Given the description of an element on the screen output the (x, y) to click on. 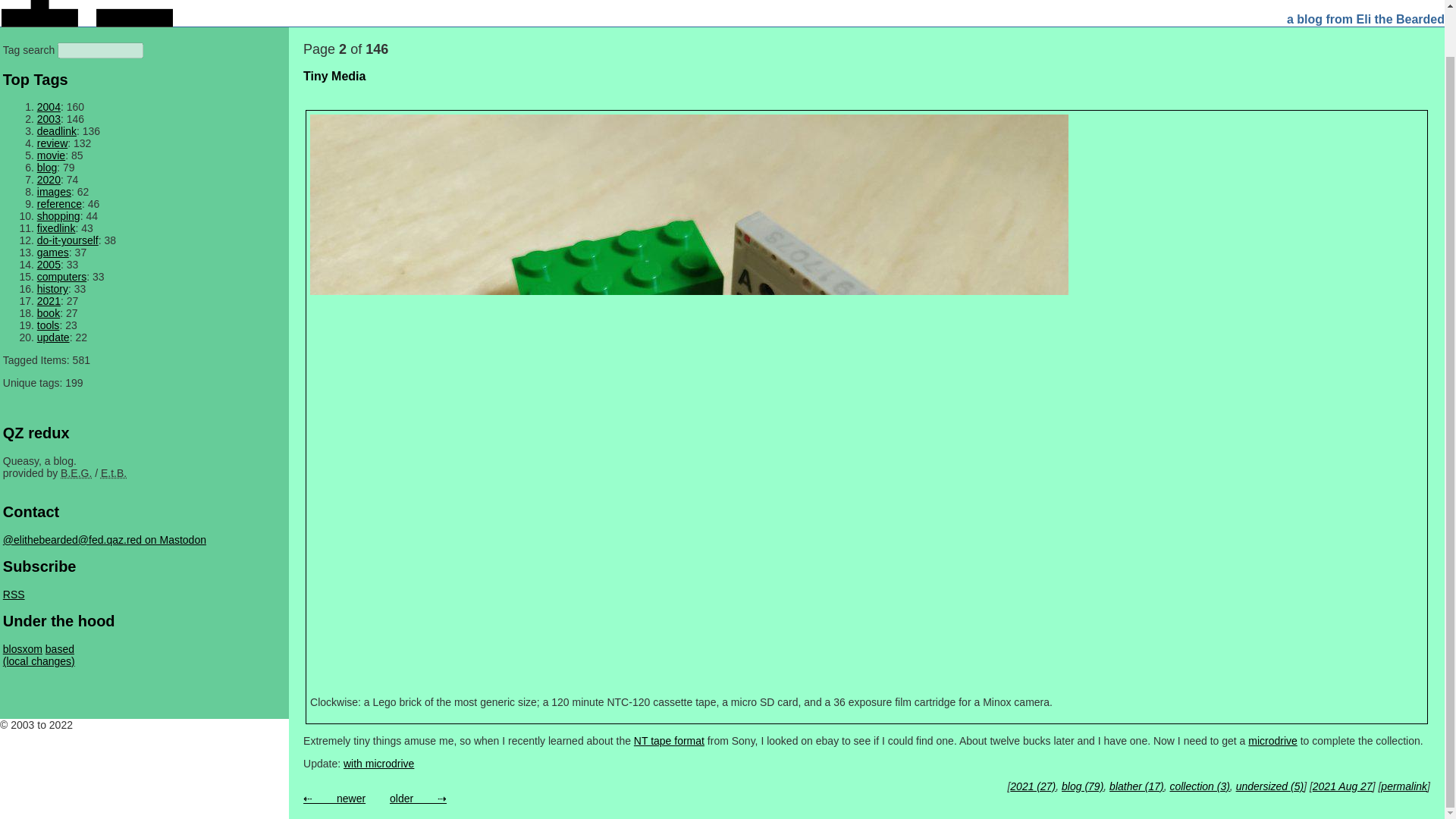
with microdrive (378, 763)
Eli the Bearded (113, 472)
movie (51, 155)
blog (46, 167)
2021 Aug 27 (1343, 786)
review (51, 143)
2003 (49, 119)
microdrive (1272, 740)
NT tape format (668, 740)
Benjamin Elijah Griffin (76, 472)
